Given the description of an element on the screen output the (x, y) to click on. 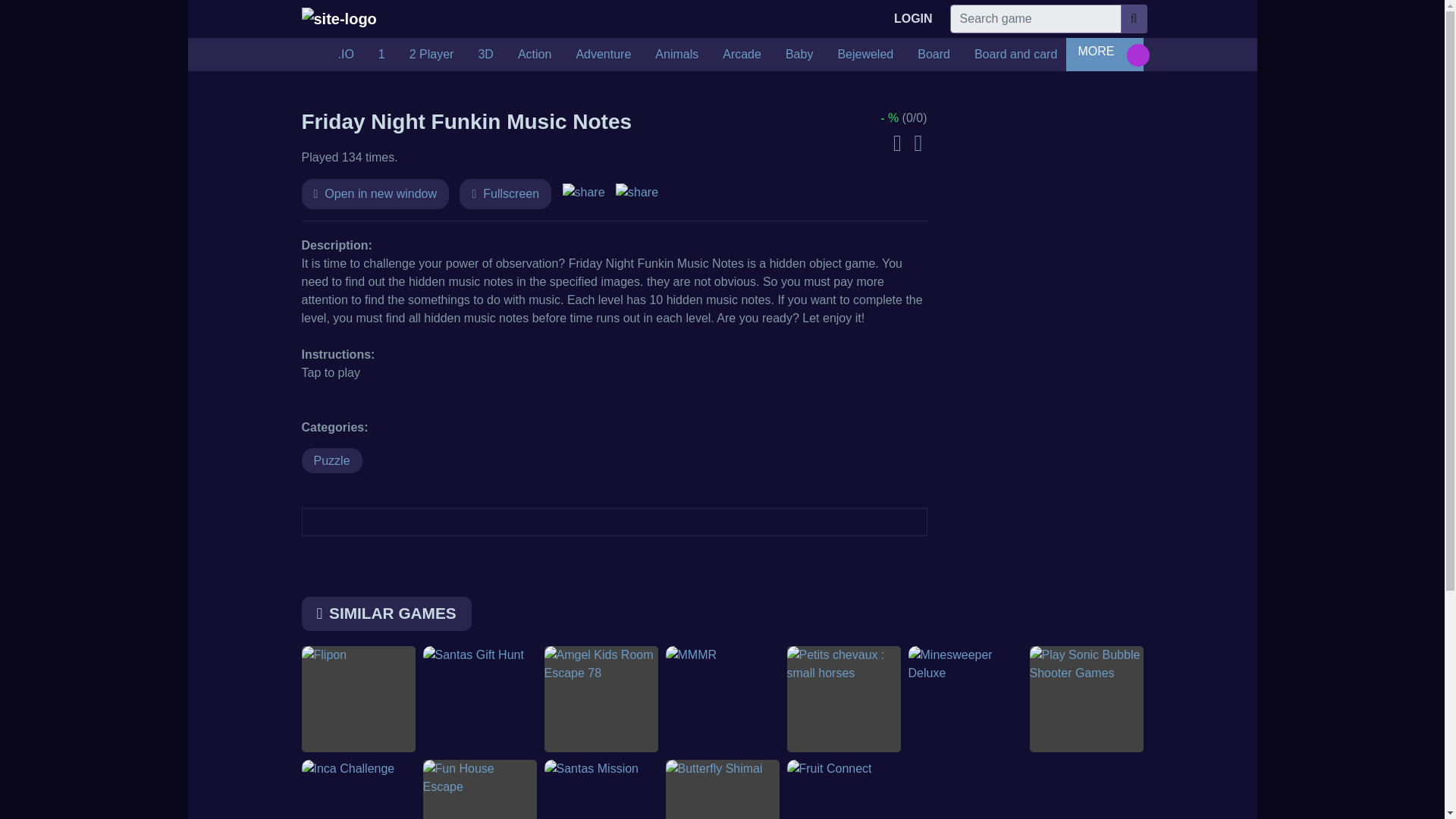
Action (534, 54)
.IO (346, 54)
Adventure (603, 54)
Board (933, 54)
Bejeweled (865, 54)
Animals (676, 54)
1 (381, 54)
LOGIN (913, 19)
3D (485, 54)
Board and card (1015, 54)
